Given the description of an element on the screen output the (x, y) to click on. 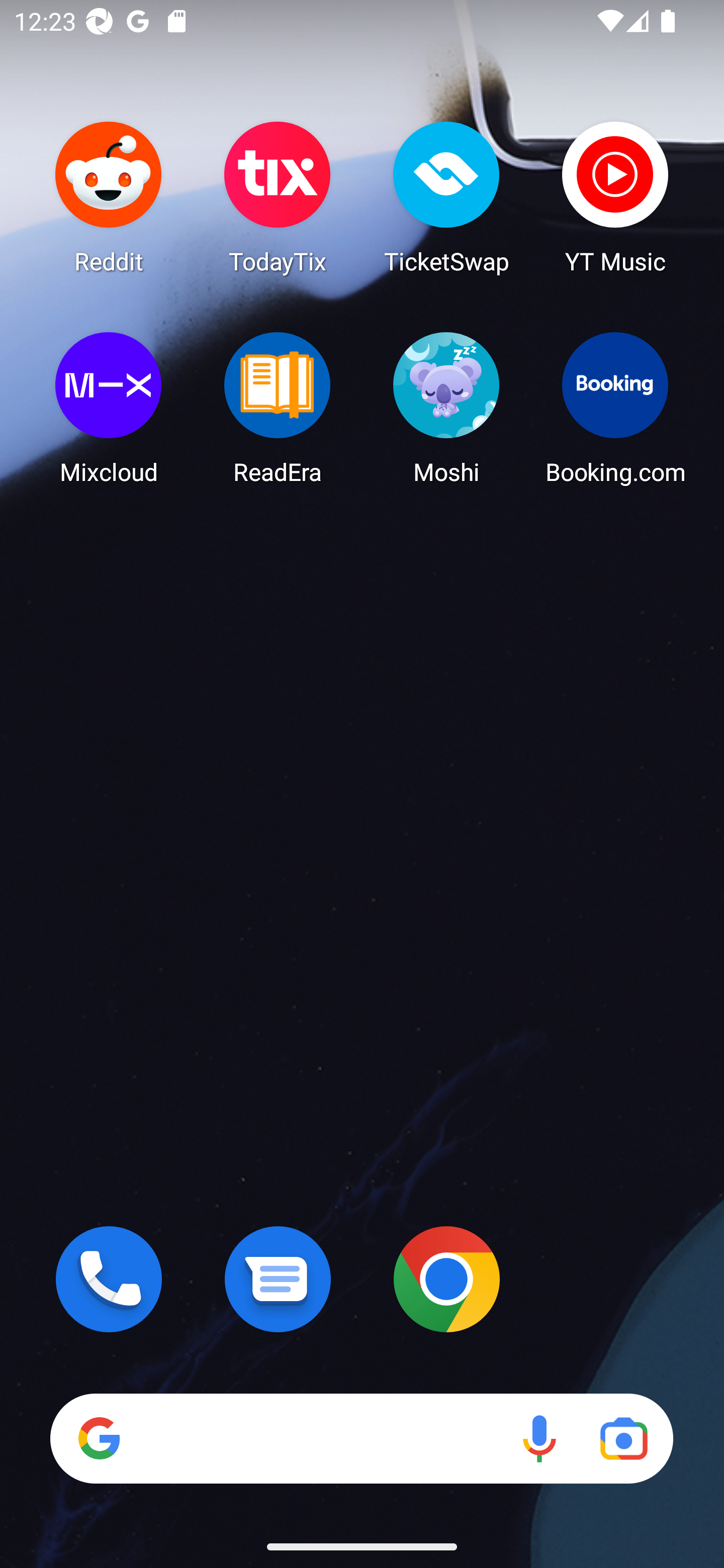
Reddit (108, 196)
TodayTix (277, 196)
TicketSwap (445, 196)
YT Music (615, 196)
Mixcloud (108, 407)
ReadEra (277, 407)
Moshi (445, 407)
Booking.com (615, 407)
Phone (108, 1279)
Messages (277, 1279)
Chrome (446, 1279)
Search Voice search Google Lens (361, 1438)
Voice search (539, 1438)
Google Lens (623, 1438)
